Given the description of an element on the screen output the (x, y) to click on. 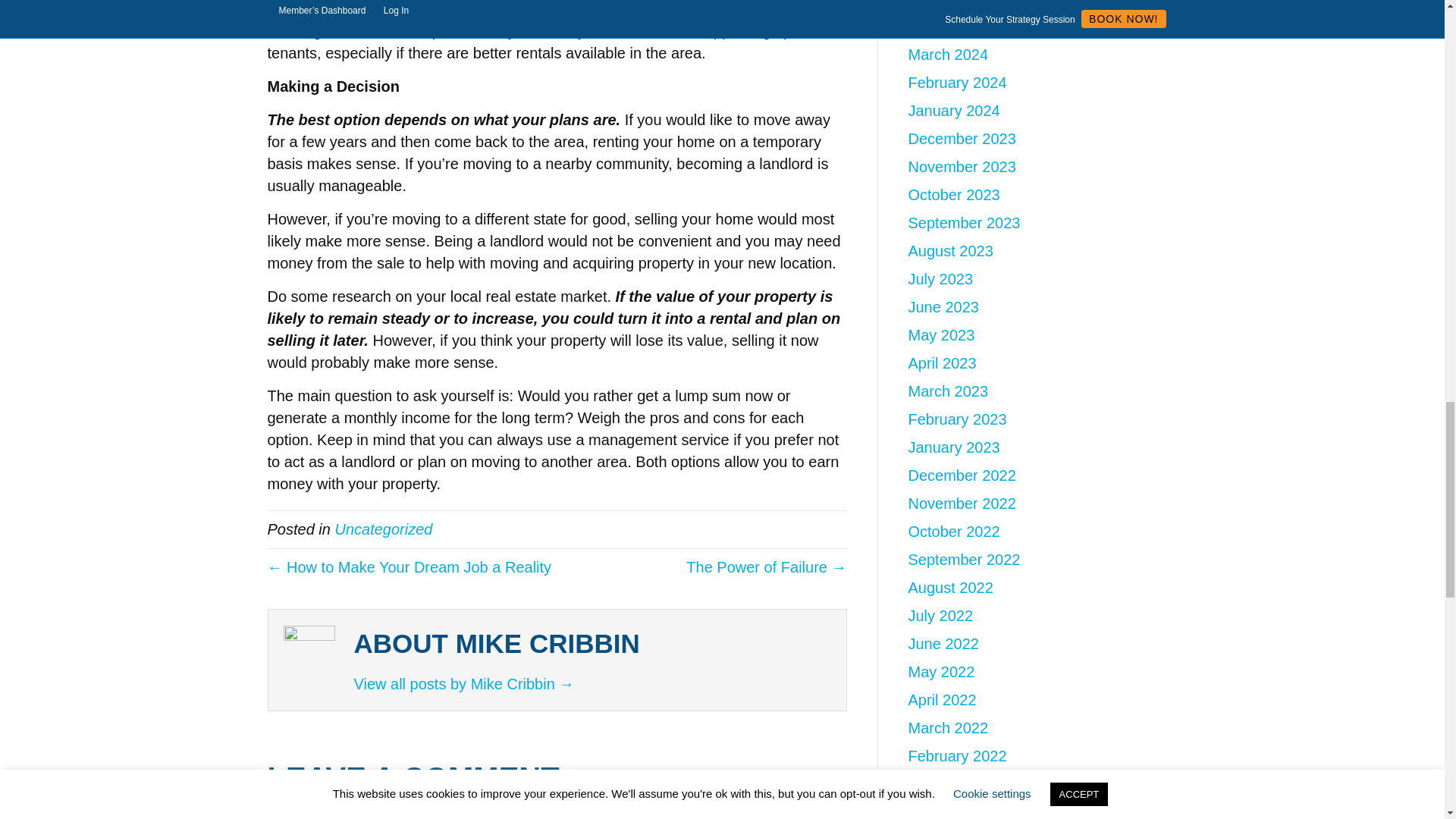
April 2024 (942, 26)
March 2024 (948, 54)
Uncategorized (383, 528)
May 2024 (941, 3)
